Given the description of an element on the screen output the (x, y) to click on. 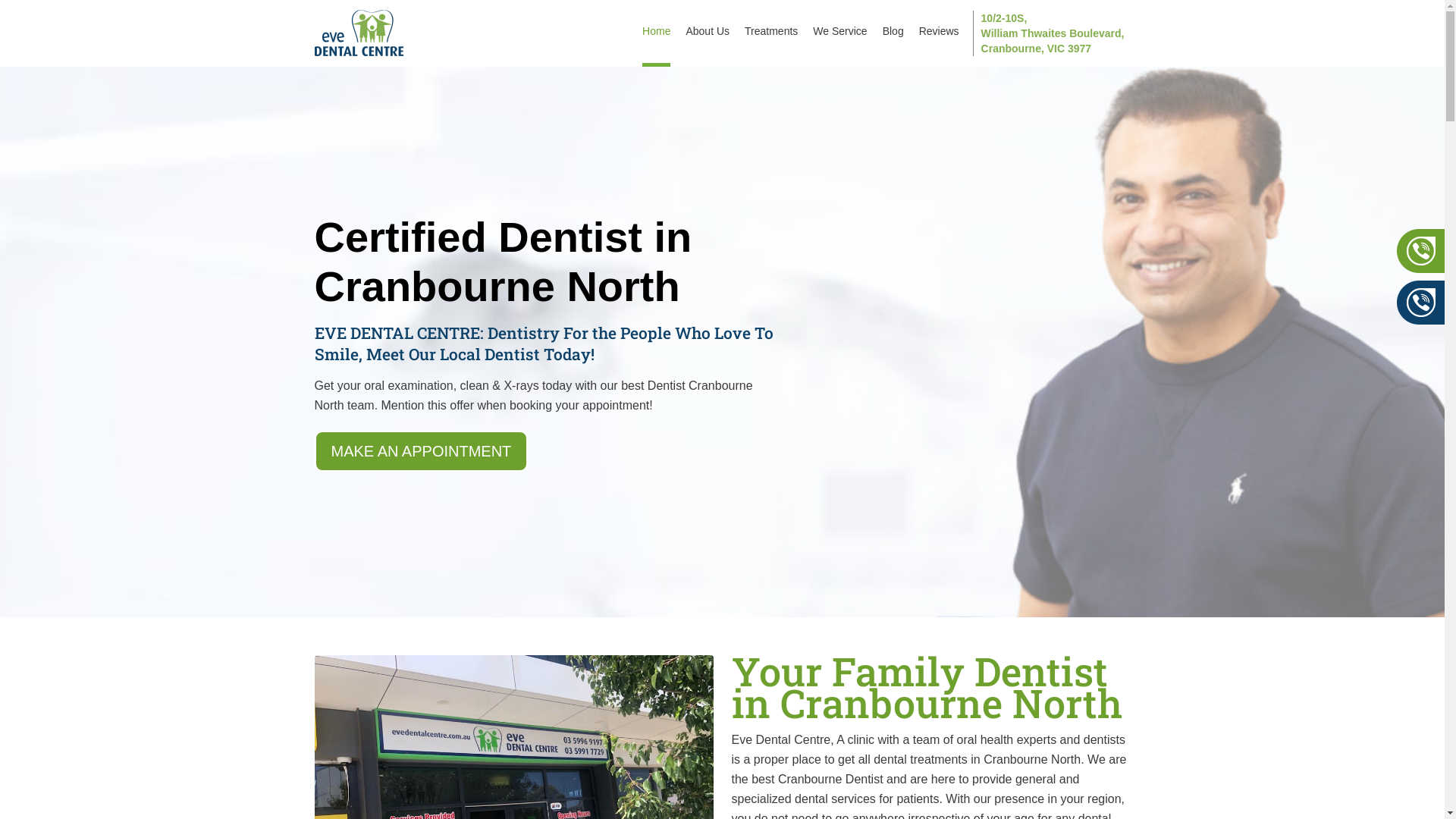
Blog Element type: text (892, 33)
Home Element type: text (656, 33)
Reviews Element type: text (939, 33)
Treatments Element type: text (770, 33)
We Service Element type: text (839, 33)
MAKE AN APPOINTMENT Element type: text (420, 450)
About Us Element type: text (707, 33)
10/2-10S,
William Thwaites Boulevard,
Cranbourne, VIC 3977 Element type: text (1048, 33)
